Given the description of an element on the screen output the (x, y) to click on. 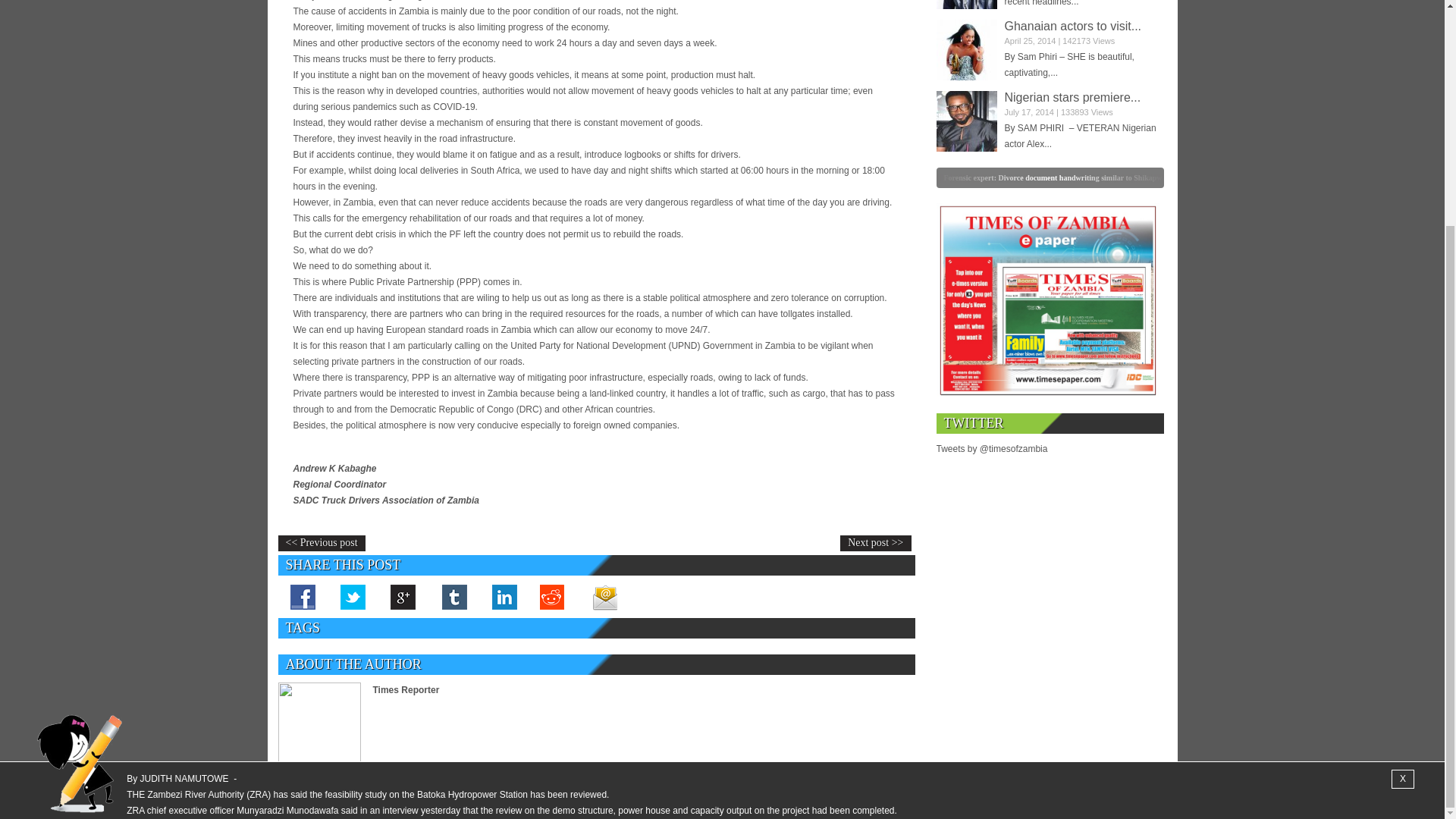
Tumblr (453, 596)
Ghanaian actors to visit Zambia (1072, 25)
Ghanaian actors to visit Zambia (965, 49)
Posts by Times Reporter (405, 689)
Linkedin (502, 596)
0 (836, 177)
Bobby East  cashes in at  The Bank Cafe (965, 4)
Twitter (352, 596)
Email (603, 596)
Reddit (553, 596)
